Given the description of an element on the screen output the (x, y) to click on. 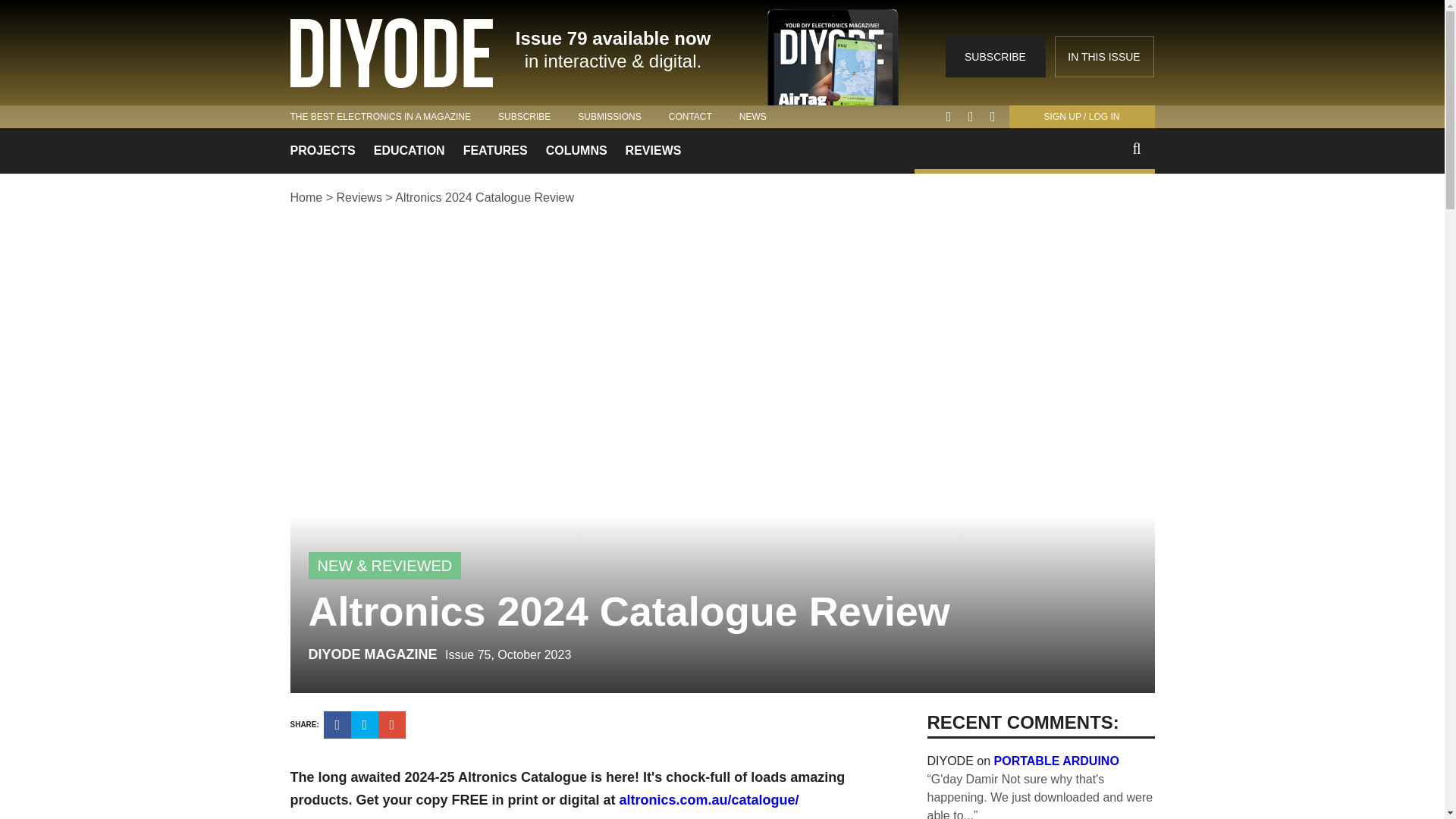
Reviews (358, 196)
COLUMNS (576, 150)
NEWS (753, 116)
CONTACT (689, 116)
SUBSCRIBE (994, 56)
REVIEWS (653, 150)
EDUCATION (409, 150)
SUBSCRIBE (523, 116)
PROJECTS (322, 150)
IN THIS ISSUE (1103, 56)
